Given the description of an element on the screen output the (x, y) to click on. 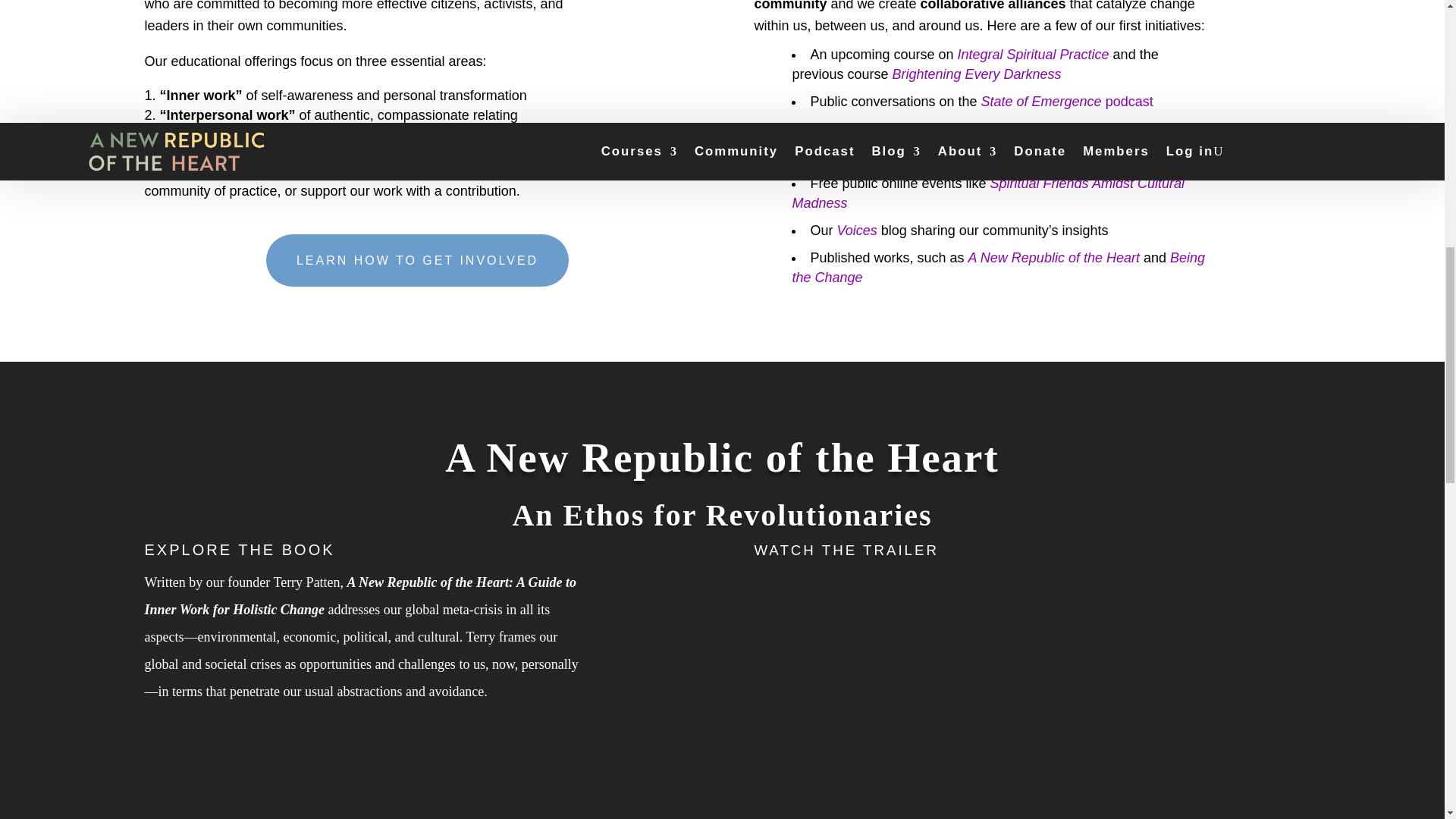
Community of Practice (944, 128)
Brightening Every Darkness (976, 73)
LEARN HOW TO GET INVOLVED (417, 260)
A New Republic of the Heart (1053, 257)
State of Emergence podcast (1067, 101)
Voices (855, 230)
Spiritual Friends Amidst Cultural Madness (988, 193)
Being the Change (998, 267)
Integral Spiritual Practice (1033, 54)
Purpose Earth  (1102, 155)
